Given the description of an element on the screen output the (x, y) to click on. 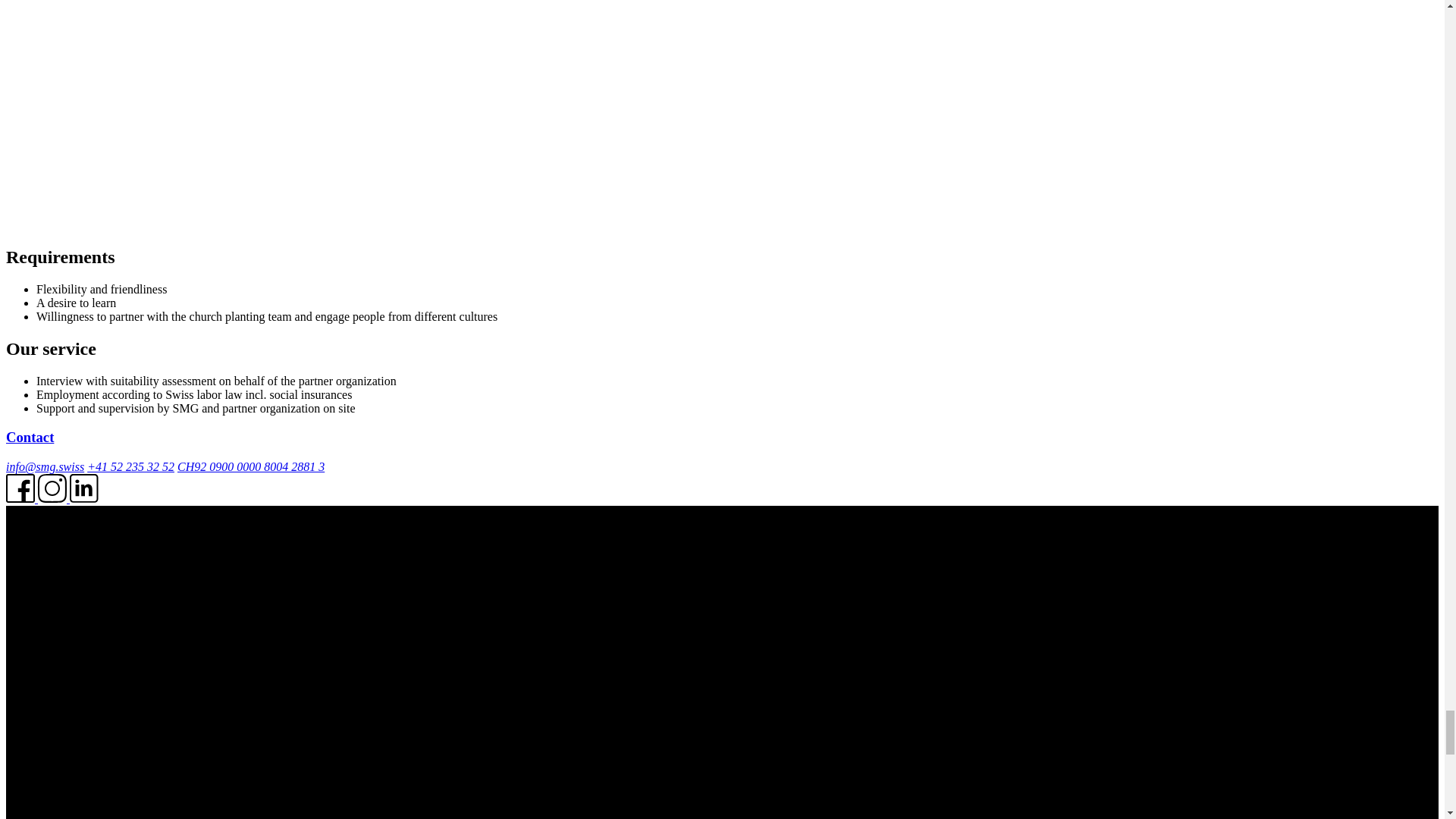
Contact (29, 437)
CH92 0900 0000 8004 2881 3 (250, 466)
